Given the description of an element on the screen output the (x, y) to click on. 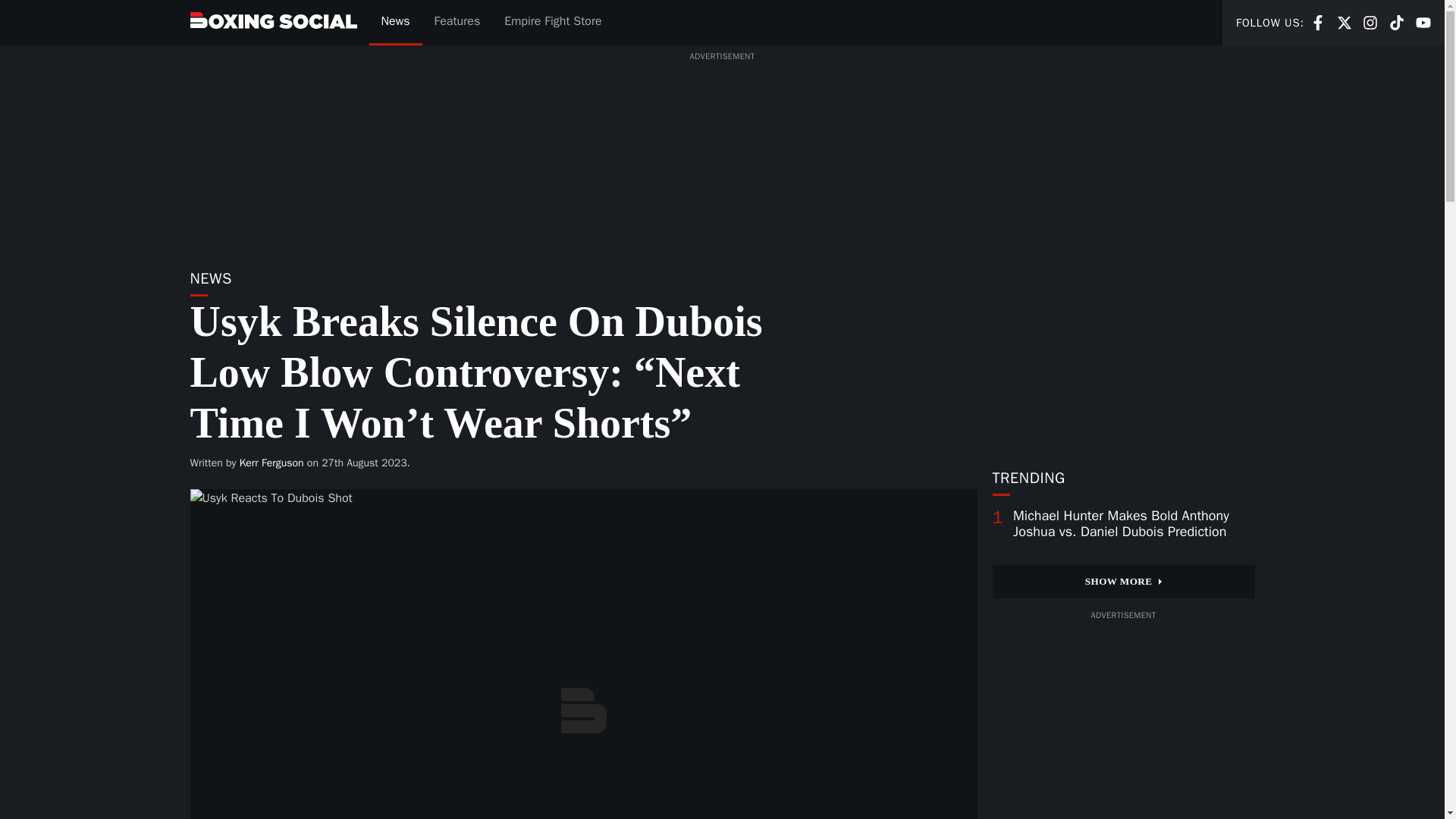
YOUTUBE (1423, 22)
INSTAGRAM (1369, 22)
Empire Fight Store (552, 22)
News (1423, 21)
SHOW MORE (395, 22)
Features (1122, 581)
FACEBOOK (457, 22)
TIKTOK (1317, 22)
Kerr Ferguson (1317, 21)
X (1397, 22)
